Given the description of an element on the screen output the (x, y) to click on. 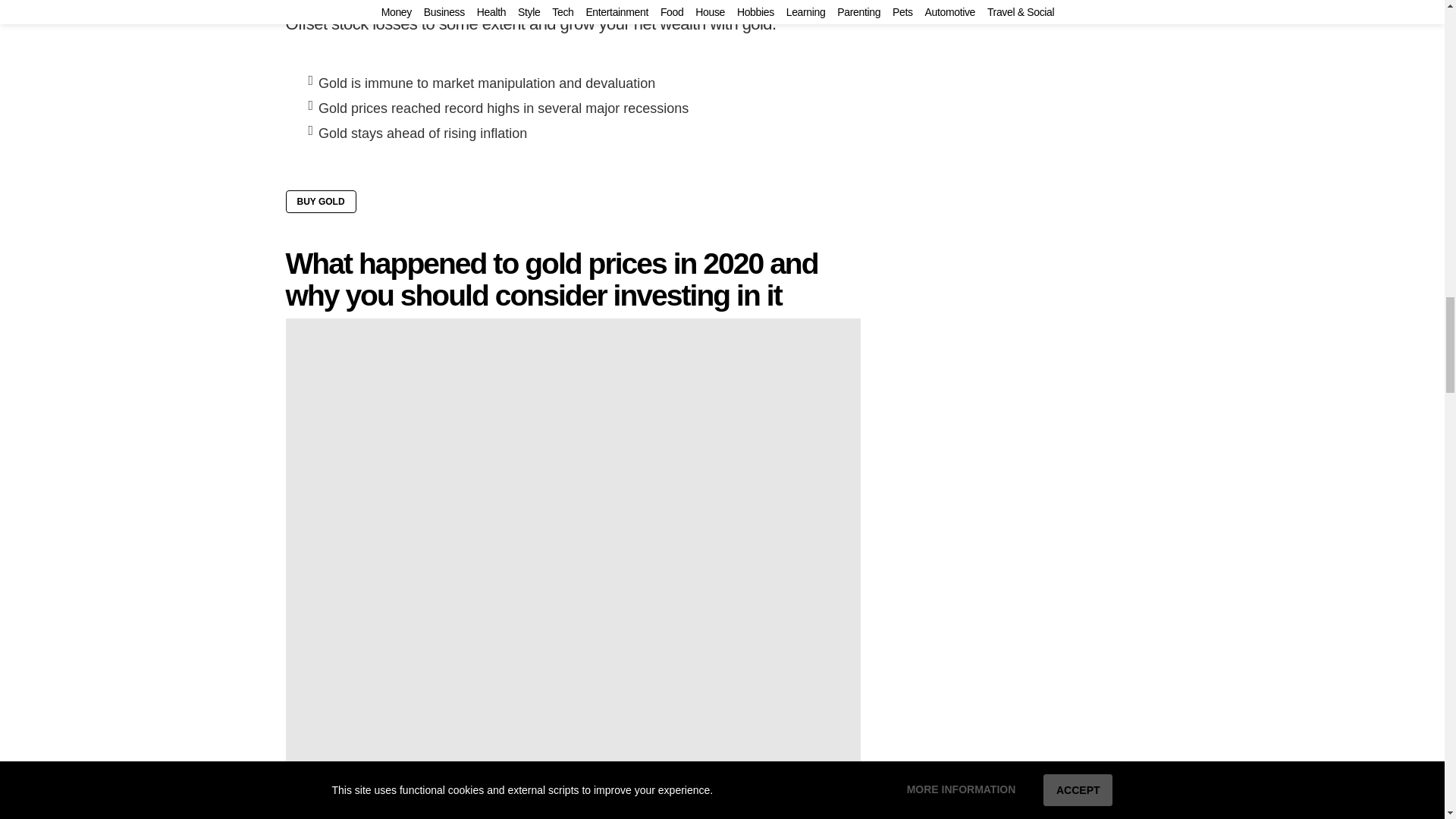
BUY GOLD (320, 201)
